Given the description of an element on the screen output the (x, y) to click on. 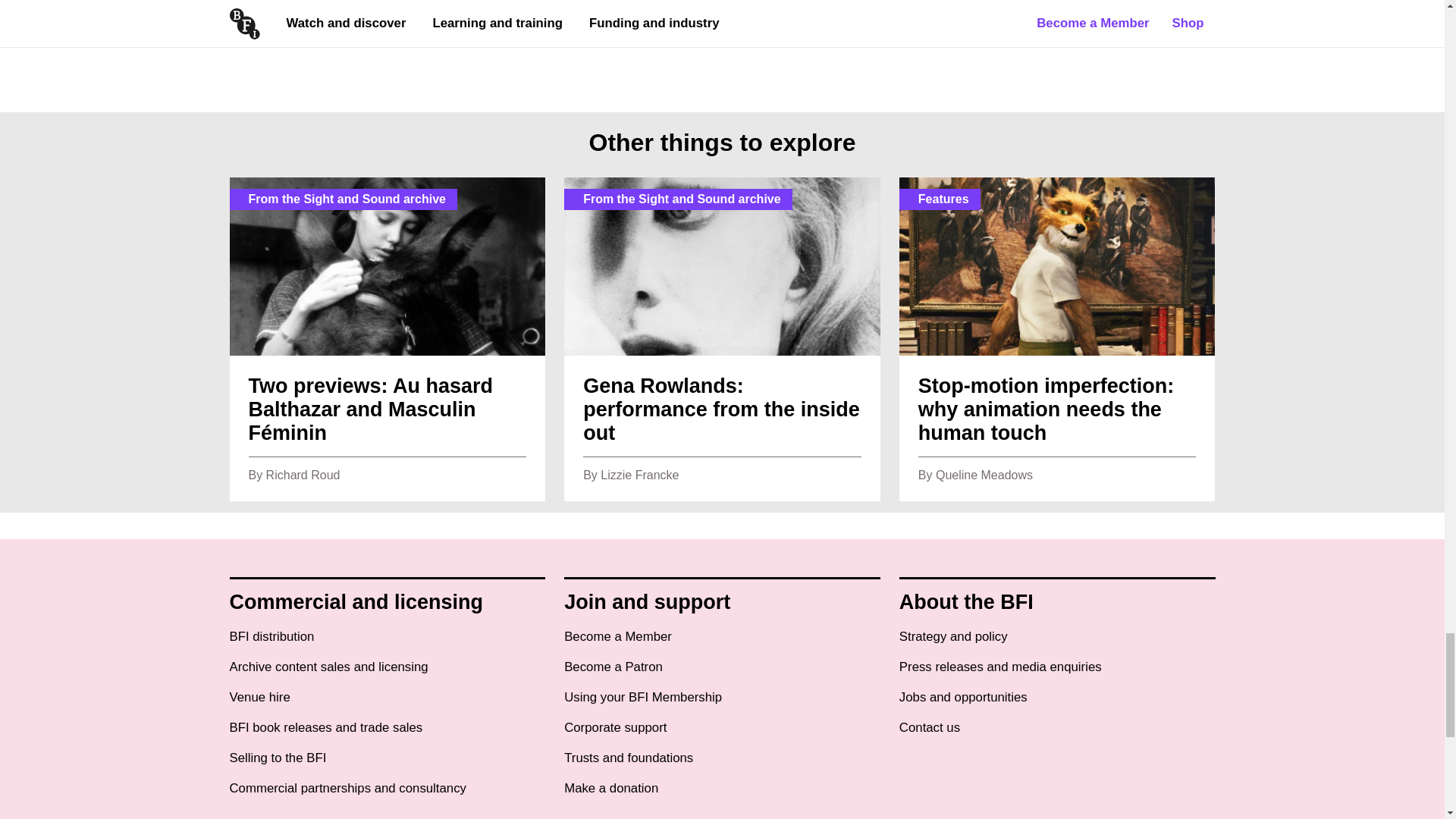
Read Gena Rowlands: performance from the inside out (722, 339)
Get free trial (478, 0)
